Given the description of an element on the screen output the (x, y) to click on. 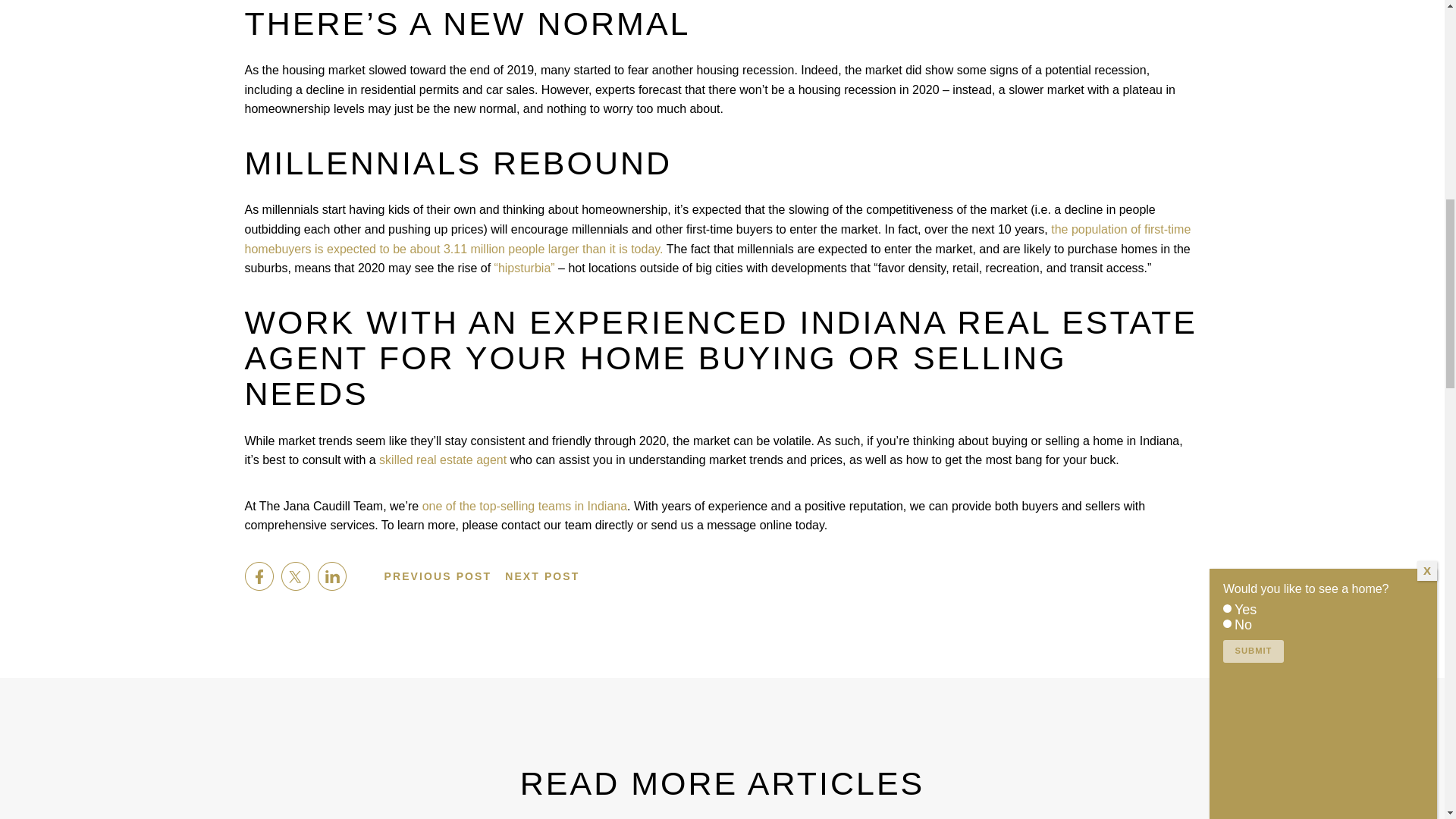
skilled real estate agent (443, 459)
one of the top-selling teams in Indiana (542, 576)
